Given the description of an element on the screen output the (x, y) to click on. 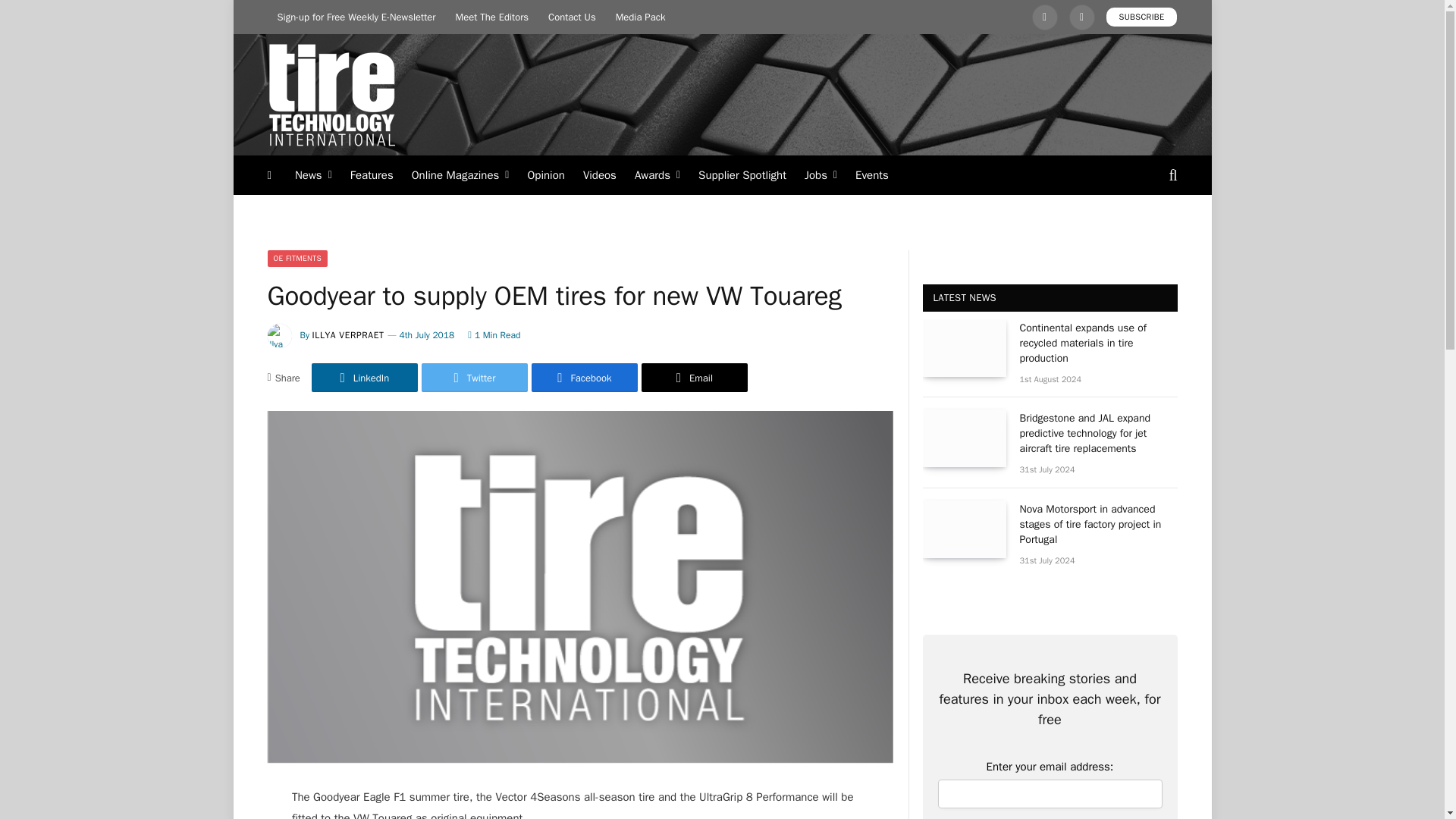
Share on LinkedIn (364, 377)
Share on Facebook (584, 377)
Share on Twitter (474, 377)
Tire Technology International (330, 94)
Share via Email (695, 377)
Posts by Illya Verpraet (348, 335)
